Given the description of an element on the screen output the (x, y) to click on. 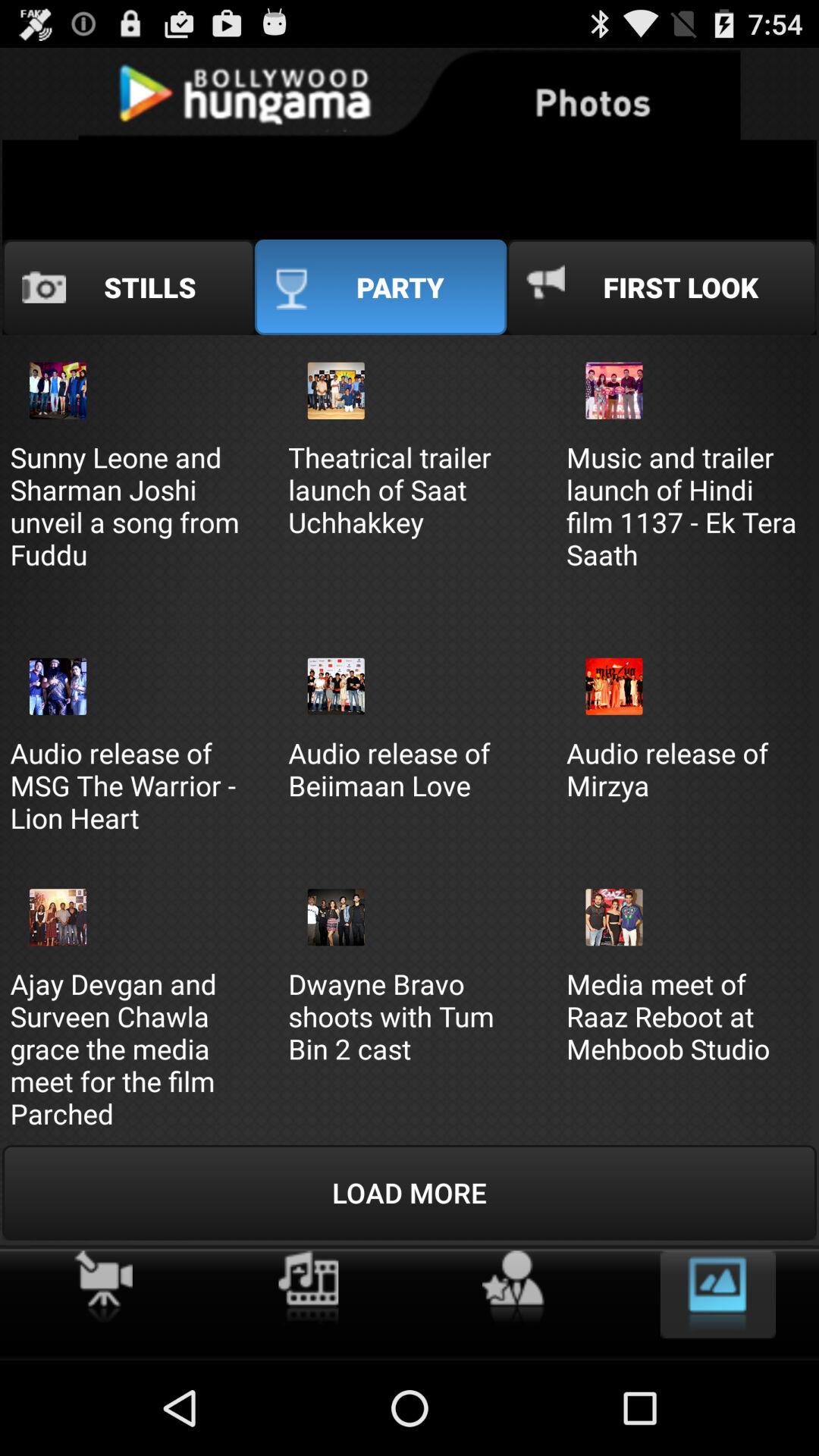
favorities (512, 1287)
